Given the description of an element on the screen output the (x, y) to click on. 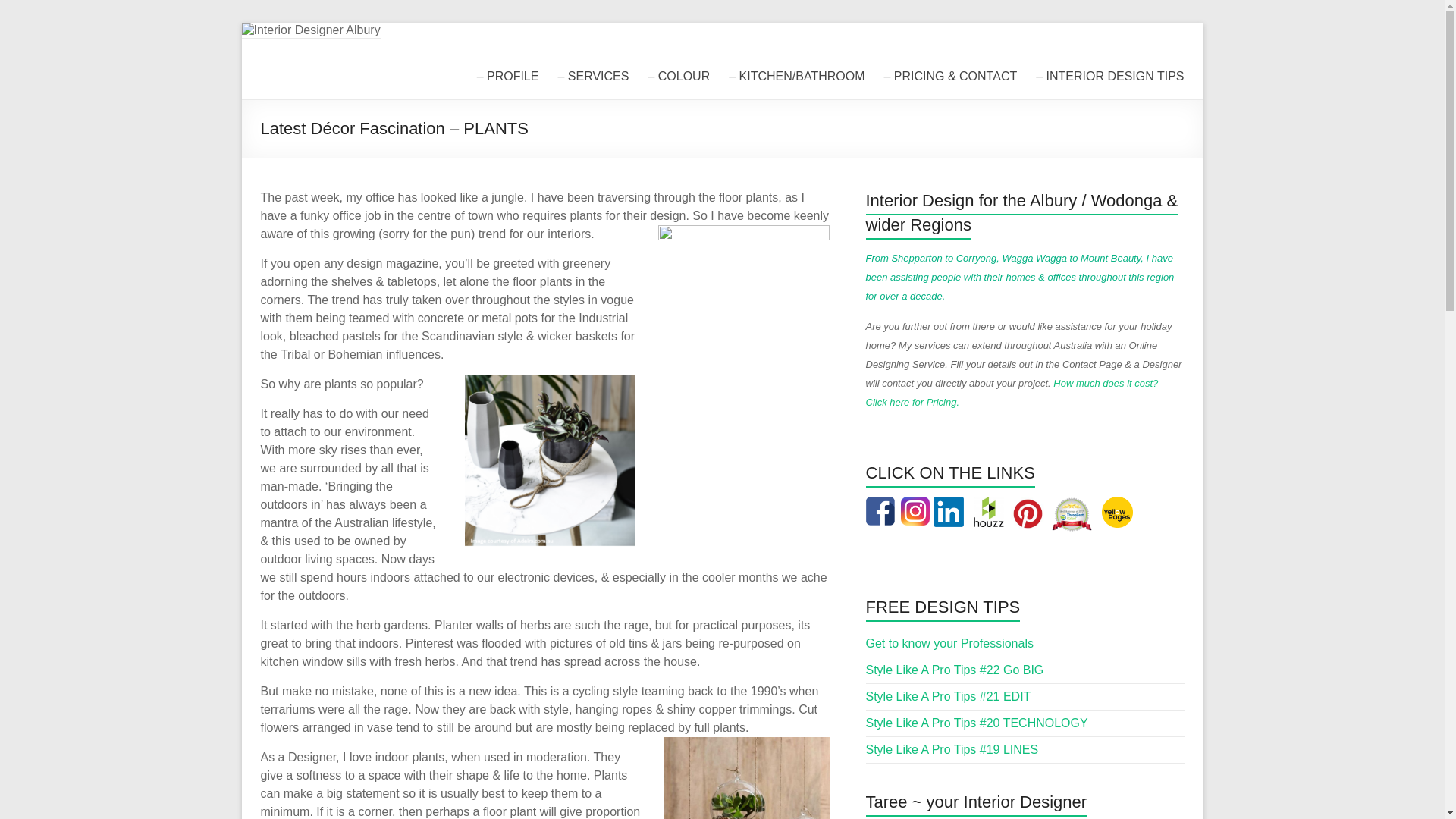
   Element type: text (883, 504)
     Element type: text (988, 504)
  Element type: text (1118, 504)
  Element type: text (964, 504)
   Element type: text (1030, 504)
Style Like A Pro Tips #19 LINES Element type: text (952, 749)
Get to know your Professionals Element type: text (949, 643)
Style Like A Pro Tips #21 EDIT Element type: text (948, 696)
Skip to content Element type: text (241, 21)
Interior Designer Albury Element type: text (403, 70)
How much does it cost?  Click here for Pricing. Element type: text (1013, 392)
Style Like A Pro Tips #20 TECHNOLOGY Element type: text (977, 722)
Style Like A Pro Tips #22 Go BIG Element type: text (955, 669)
  Element type: text (916, 504)
